Given the description of an element on the screen output the (x, y) to click on. 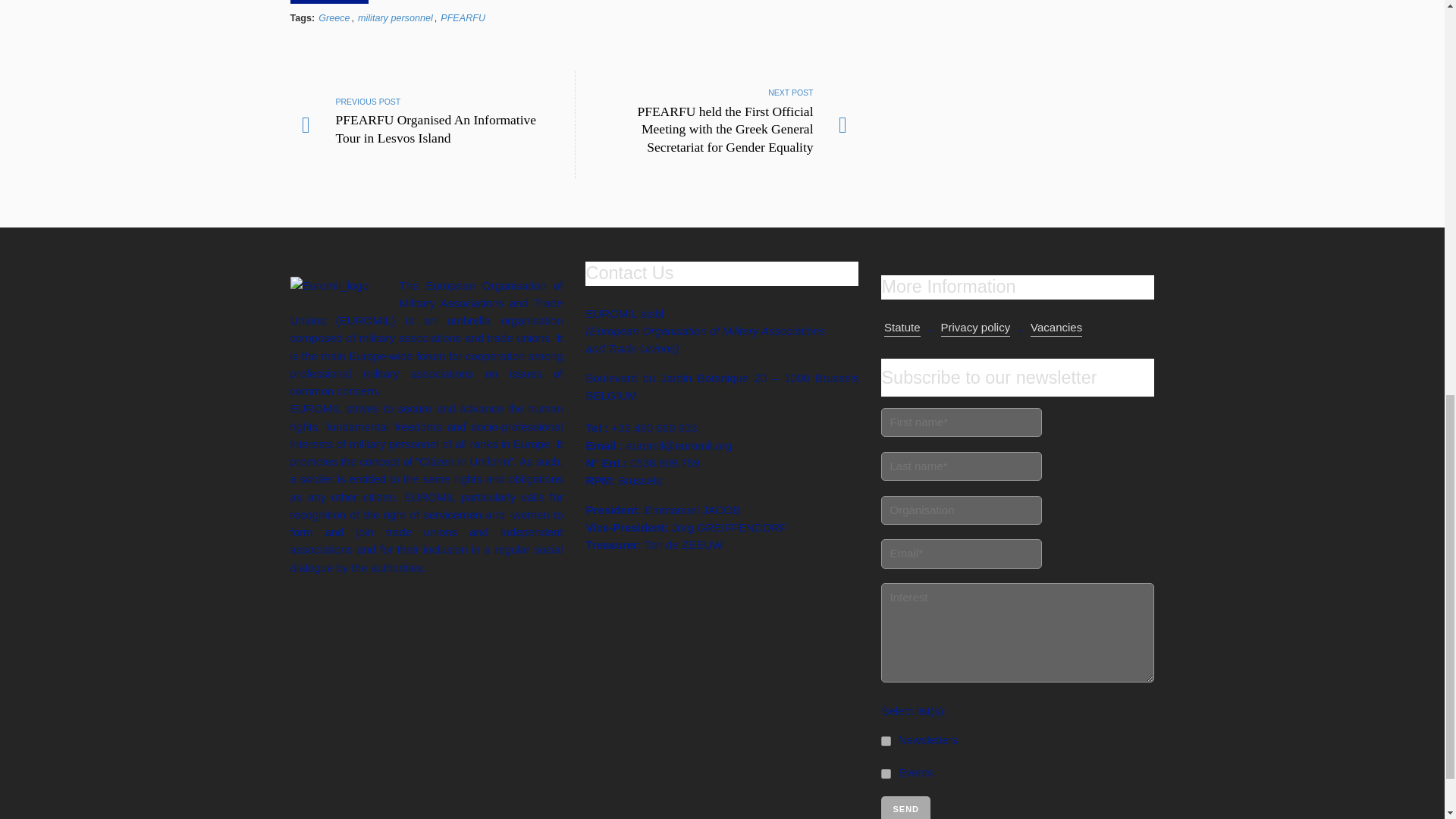
14 (885, 741)
Send (905, 807)
PFEARFU (462, 18)
MEMBERS NEWS (328, 2)
military personnel (395, 18)
View all posts in Members news (328, 2)
Greece (333, 18)
13 (885, 773)
Organisation (961, 510)
